Given the description of an element on the screen output the (x, y) to click on. 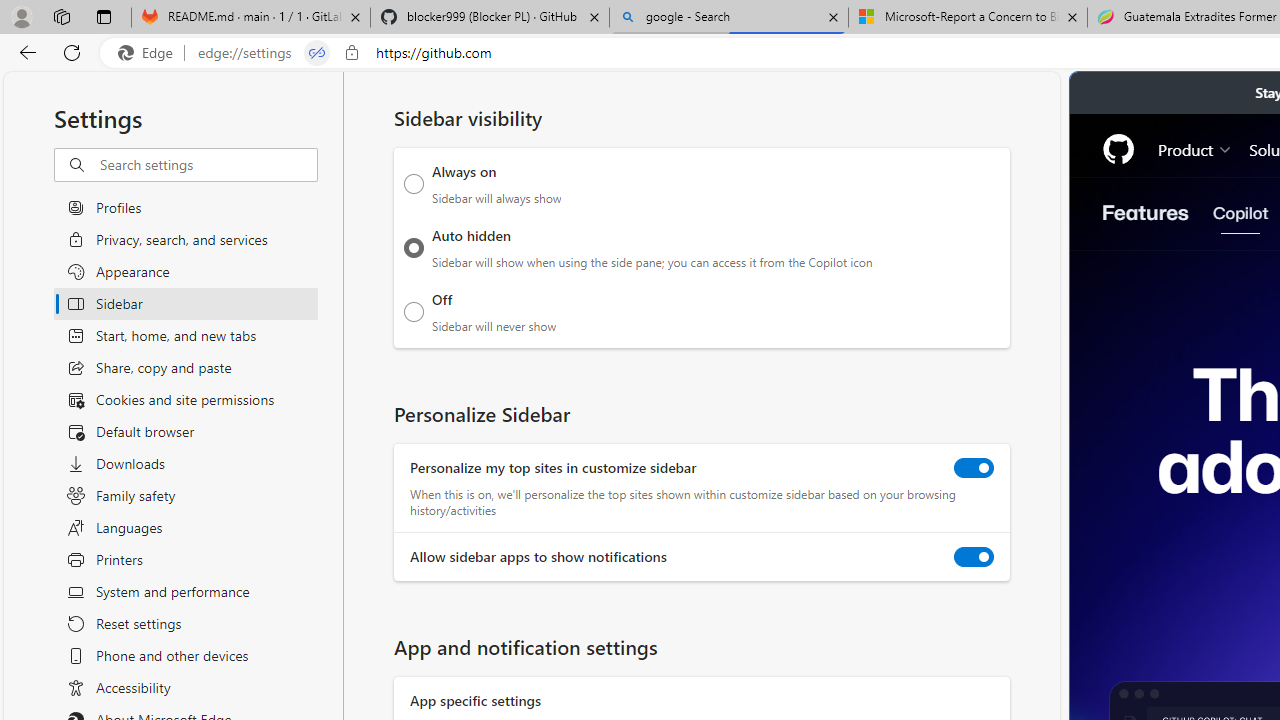
Search settings (207, 165)
Copilot (1240, 213)
google - Search (729, 17)
Tabs in split screen (317, 53)
Always on Sidebar will always show (413, 183)
Personalize my top sites in customize sidebar (973, 467)
Features (1145, 213)
